Given the description of an element on the screen output the (x, y) to click on. 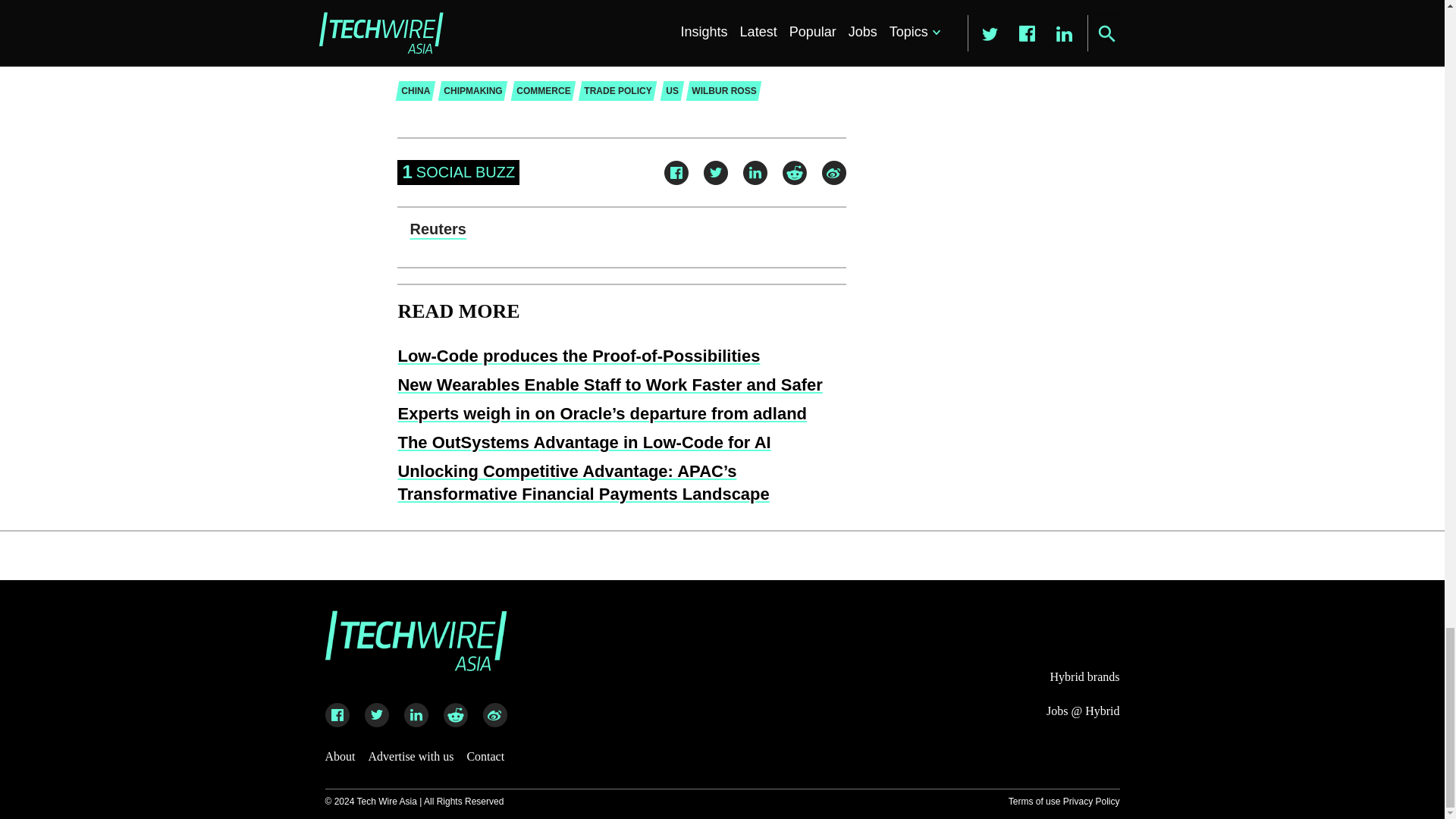
Posts by Reuters (437, 228)
